Given the description of an element on the screen output the (x, y) to click on. 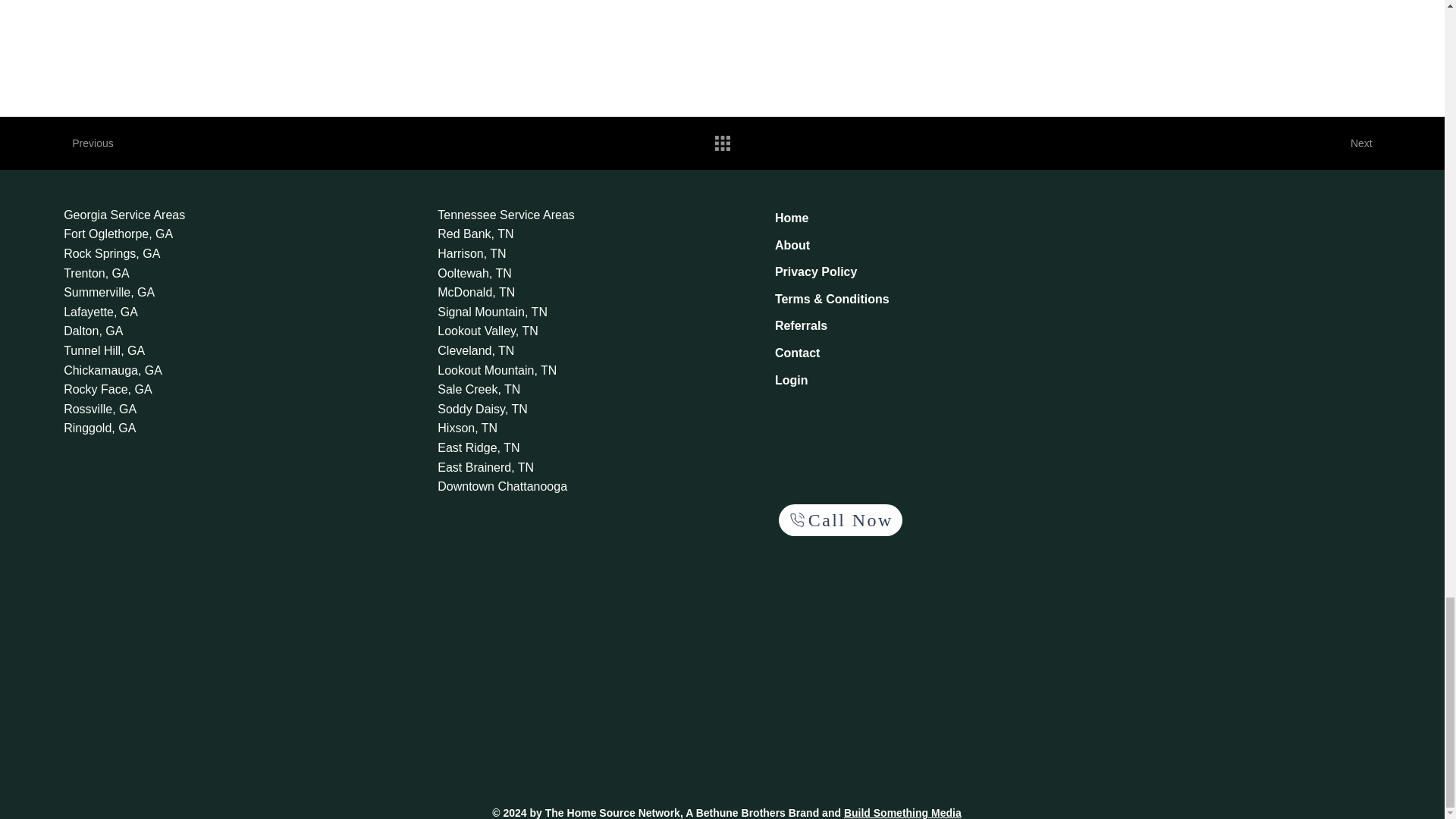
East Ridge, TN (521, 447)
Lookout Mountain, TN (521, 370)
Soddy Daisy, TN (521, 409)
East Brainerd, TN (521, 467)
Privacy Policy (849, 271)
McDonald, TN (521, 292)
Harrison, TN (521, 253)
Georgia Service Areas (146, 215)
Sale Creek, TN (521, 389)
Red Bank, TN (521, 234)
